Given the description of an element on the screen output the (x, y) to click on. 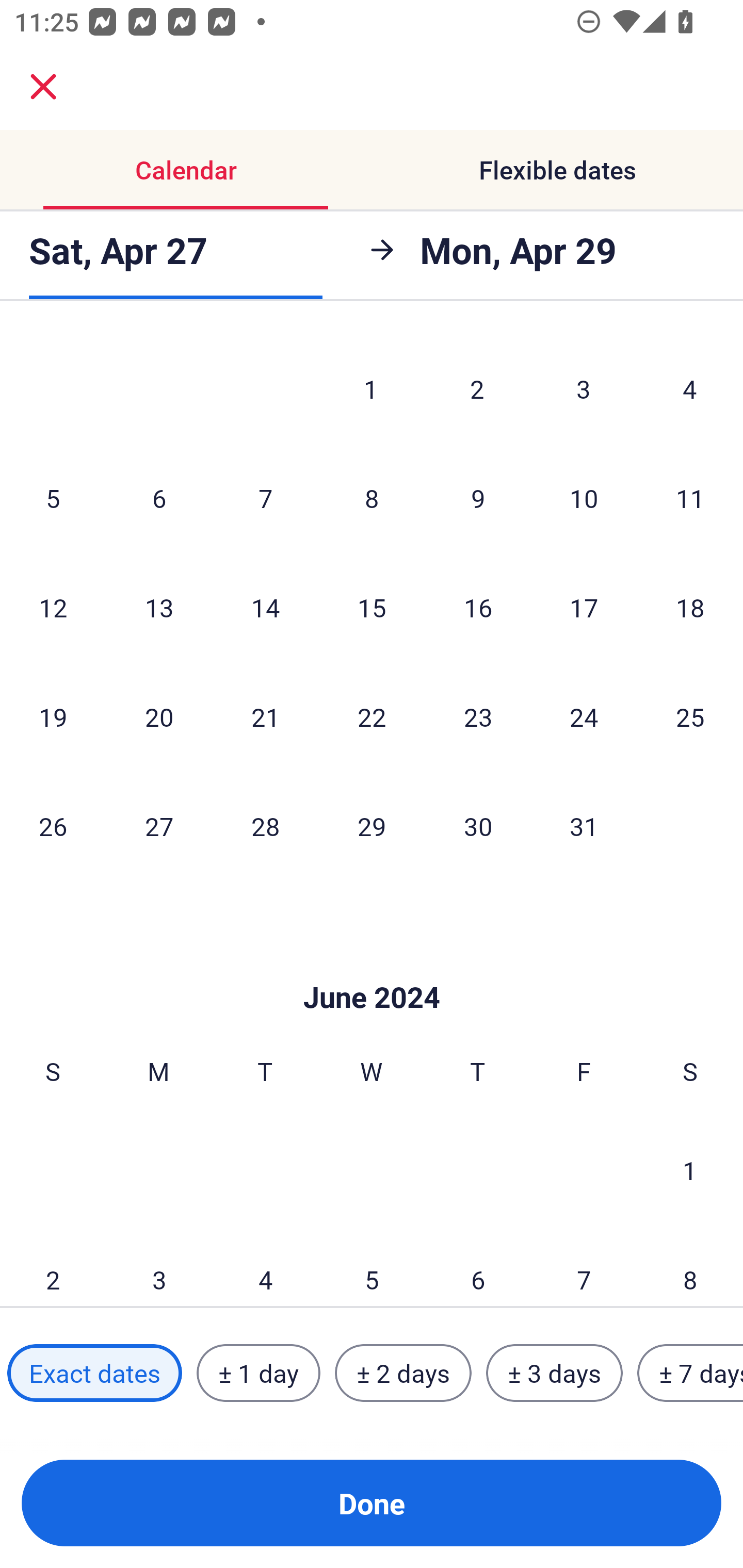
close. (43, 86)
Flexible dates (557, 170)
1 Wednesday, May 1, 2024 (371, 388)
2 Thursday, May 2, 2024 (477, 388)
3 Friday, May 3, 2024 (583, 388)
4 Saturday, May 4, 2024 (689, 388)
5 Sunday, May 5, 2024 (53, 497)
6 Monday, May 6, 2024 (159, 497)
7 Tuesday, May 7, 2024 (265, 497)
8 Wednesday, May 8, 2024 (371, 497)
9 Thursday, May 9, 2024 (477, 497)
10 Friday, May 10, 2024 (584, 497)
11 Saturday, May 11, 2024 (690, 497)
12 Sunday, May 12, 2024 (53, 607)
13 Monday, May 13, 2024 (159, 607)
14 Tuesday, May 14, 2024 (265, 607)
15 Wednesday, May 15, 2024 (371, 607)
16 Thursday, May 16, 2024 (477, 607)
17 Friday, May 17, 2024 (584, 607)
18 Saturday, May 18, 2024 (690, 607)
19 Sunday, May 19, 2024 (53, 716)
20 Monday, May 20, 2024 (159, 716)
21 Tuesday, May 21, 2024 (265, 716)
22 Wednesday, May 22, 2024 (371, 716)
23 Thursday, May 23, 2024 (477, 716)
24 Friday, May 24, 2024 (584, 716)
25 Saturday, May 25, 2024 (690, 716)
26 Sunday, May 26, 2024 (53, 826)
27 Monday, May 27, 2024 (159, 826)
28 Tuesday, May 28, 2024 (265, 826)
29 Wednesday, May 29, 2024 (371, 826)
30 Thursday, May 30, 2024 (477, 826)
31 Friday, May 31, 2024 (584, 826)
Skip to Done (371, 966)
1 Saturday, June 1, 2024 (689, 1169)
2 Sunday, June 2, 2024 (53, 1266)
3 Monday, June 3, 2024 (159, 1266)
4 Tuesday, June 4, 2024 (265, 1266)
5 Wednesday, June 5, 2024 (371, 1266)
6 Thursday, June 6, 2024 (477, 1266)
7 Friday, June 7, 2024 (584, 1266)
8 Saturday, June 8, 2024 (690, 1266)
Exact dates (94, 1372)
± 1 day (258, 1372)
± 2 days (403, 1372)
± 3 days (553, 1372)
± 7 days (690, 1372)
Done (371, 1502)
